Given the description of an element on the screen output the (x, y) to click on. 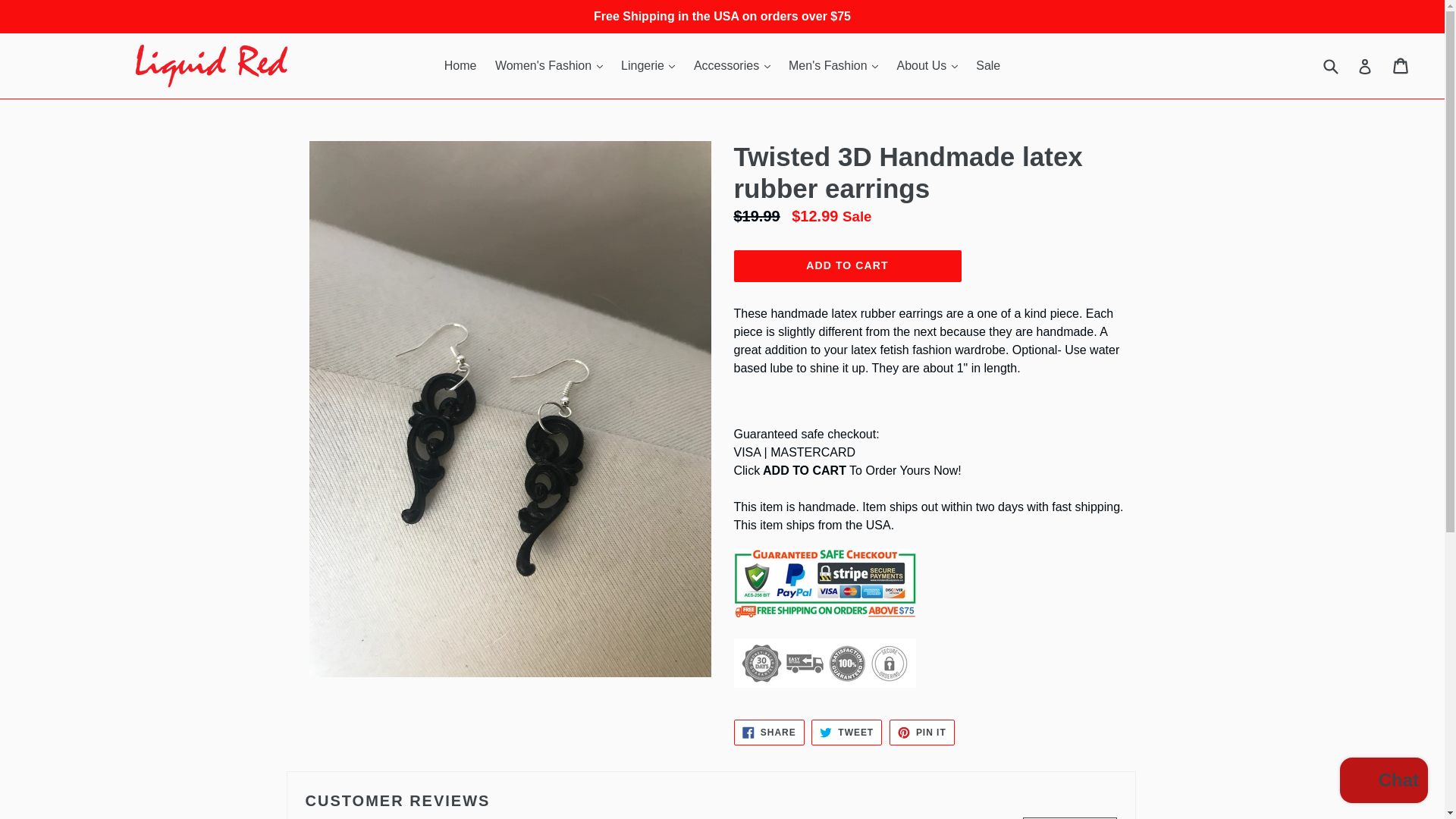
Shopify online store chat (1383, 781)
Tweet on Twitter (846, 732)
Pin on Pinterest (922, 732)
Share on Facebook (769, 732)
